Given the description of an element on the screen output the (x, y) to click on. 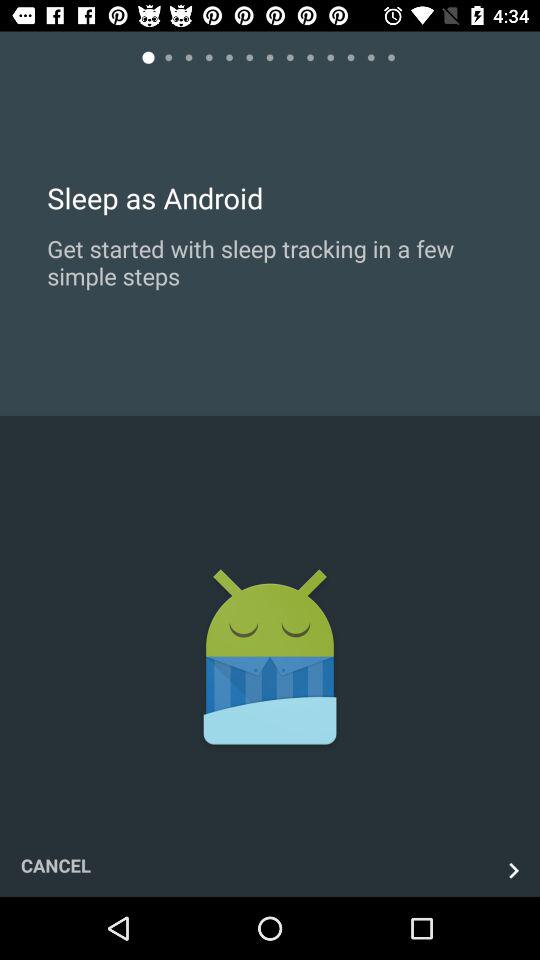
next screen arrow (513, 870)
